Given the description of an element on the screen output the (x, y) to click on. 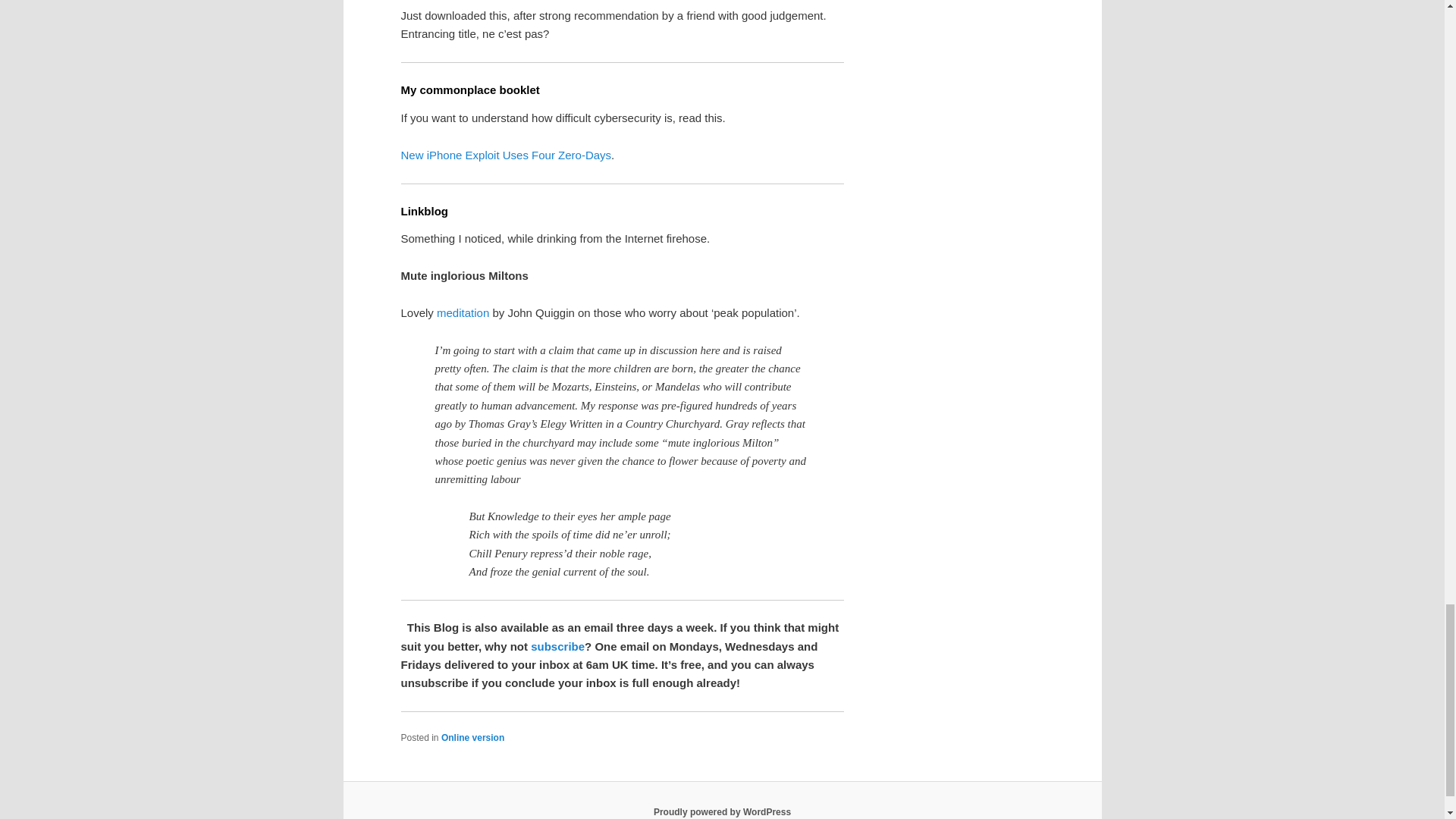
meditation (462, 312)
New iPhone Exploit Uses Four Zero-Days (505, 154)
Semantic Personal Publishing Platform (721, 811)
subscribe (558, 645)
Online version (472, 737)
